Given the description of an element on the screen output the (x, y) to click on. 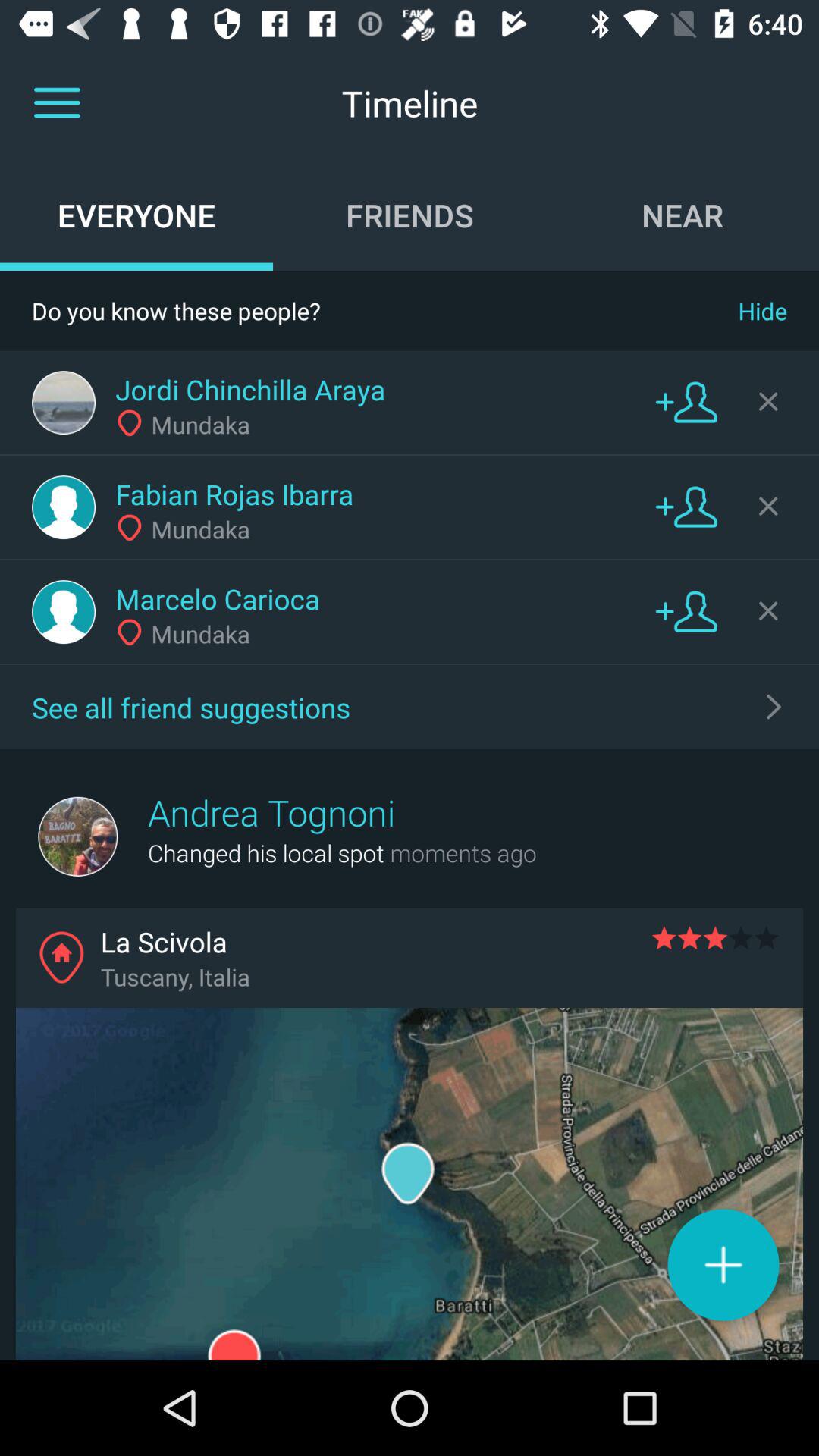
hide selected user (768, 610)
